Given the description of an element on the screen output the (x, y) to click on. 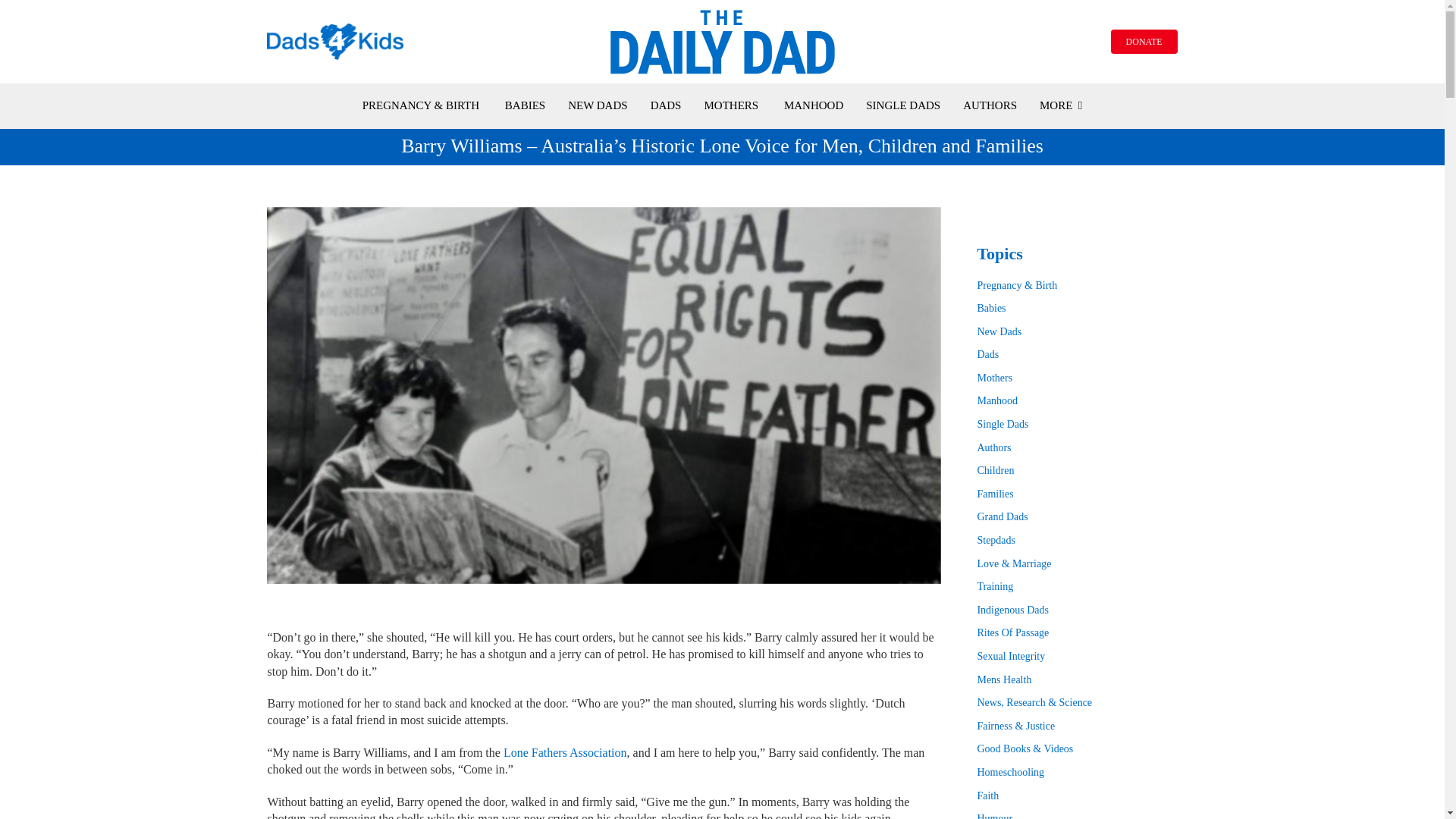
BABIES (524, 105)
MORE (1060, 105)
MOTHERS  (731, 105)
NEW DADS (597, 105)
MANHOOD (813, 105)
DADS (665, 105)
DONATE (1143, 41)
AUTHORS (989, 105)
SINGLE DADS (903, 105)
